Given the description of an element on the screen output the (x, y) to click on. 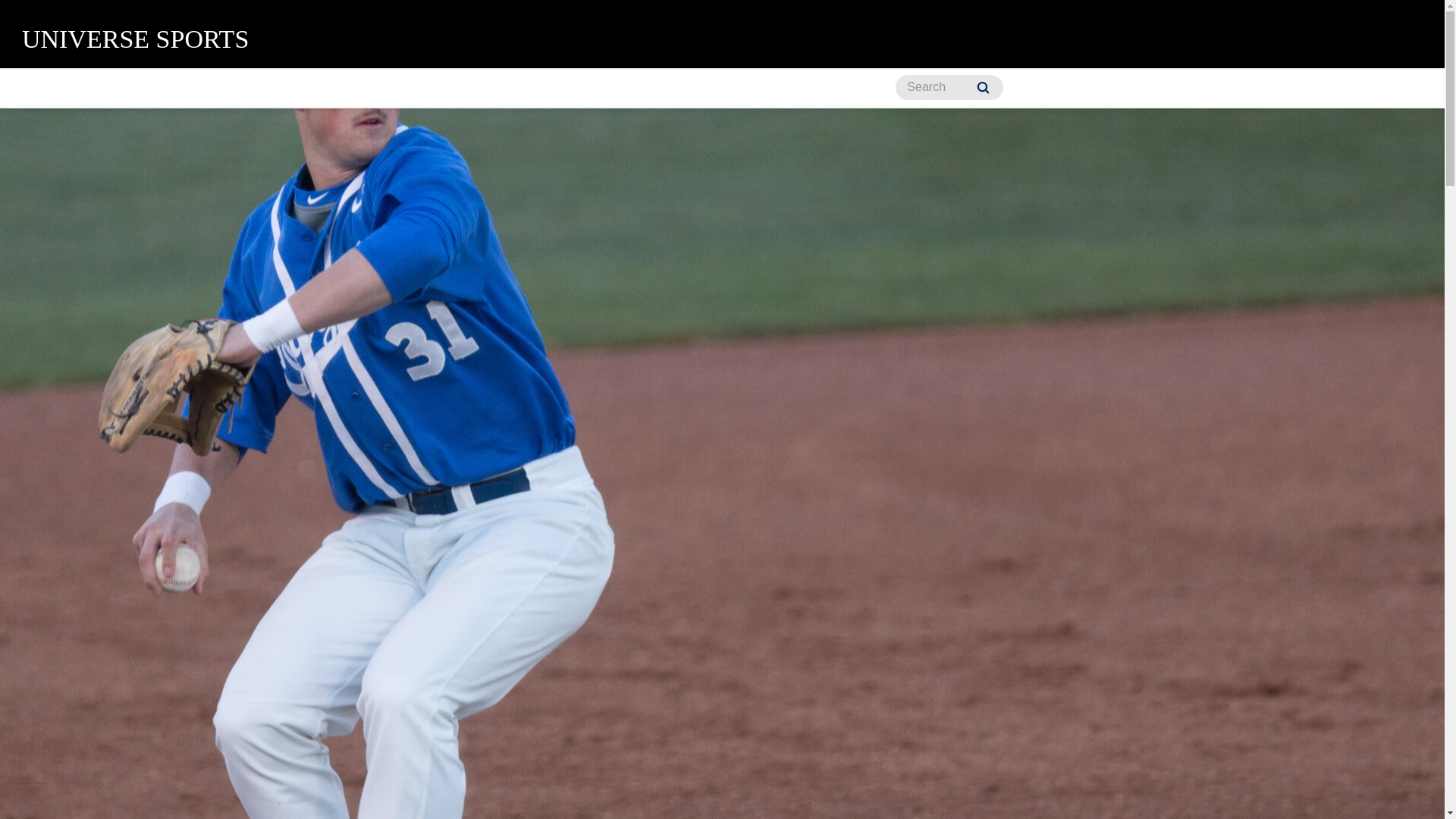
Search (982, 87)
Basketball (138, 87)
Cheer (217, 87)
Tennis (652, 87)
Track and Field (748, 87)
Football (404, 87)
Golf (472, 87)
Volleyball (850, 87)
UNIVERSE SPORTS (134, 39)
Swim and Dive (559, 87)
